Given the description of an element on the screen output the (x, y) to click on. 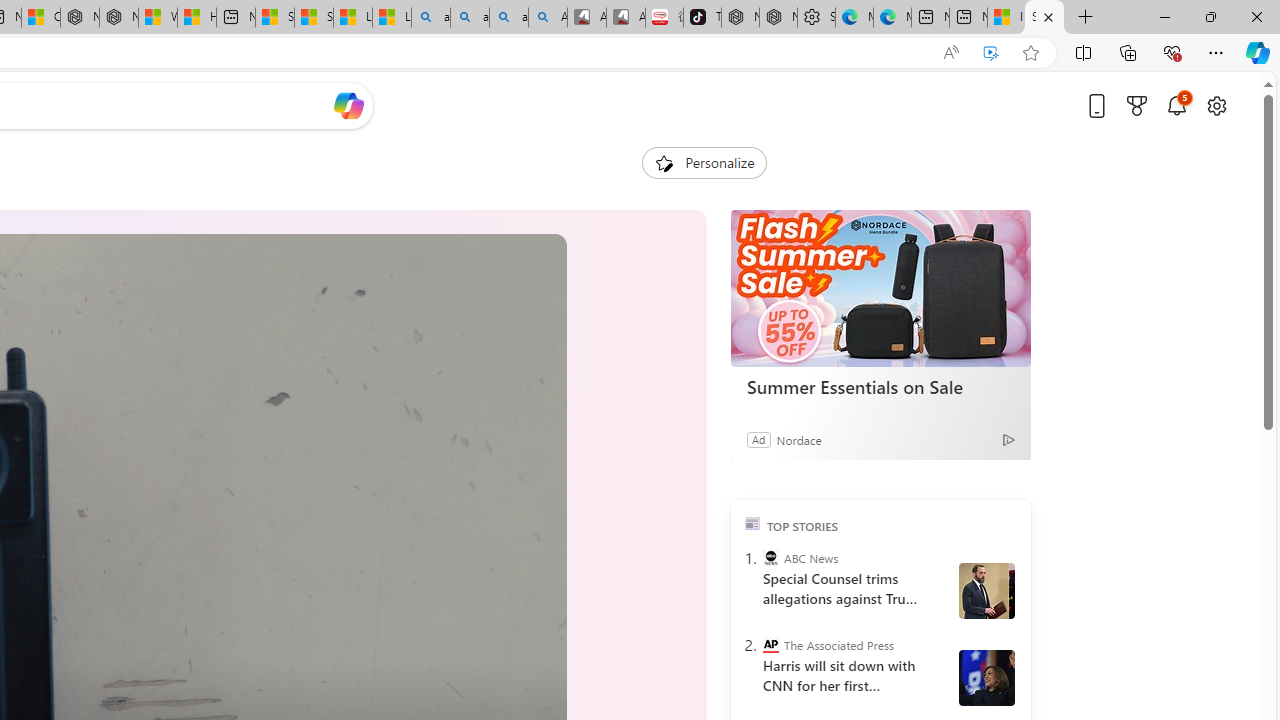
ABC News (770, 557)
Enhance video (991, 53)
